Given the description of an element on the screen output the (x, y) to click on. 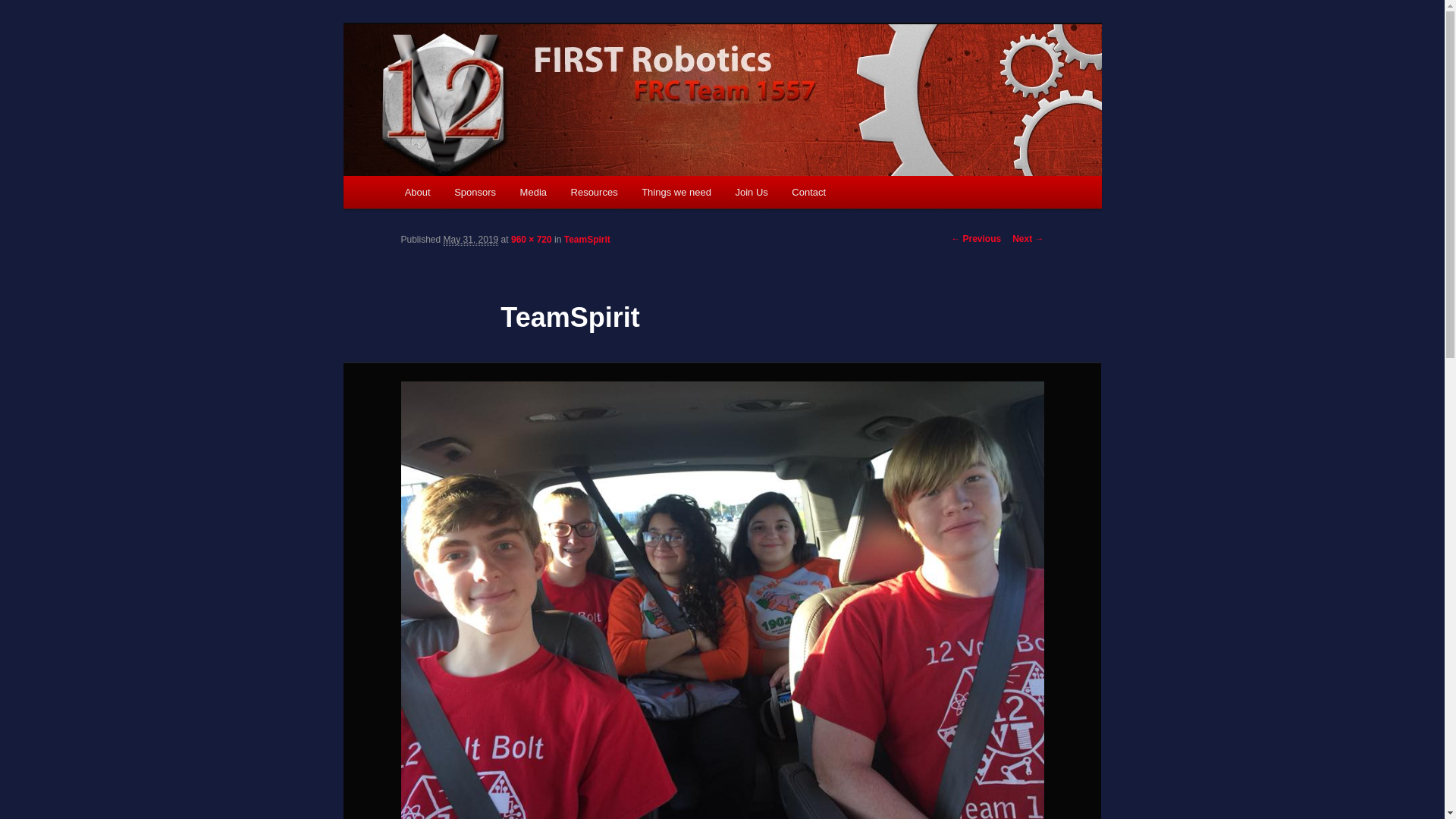
Resources Element type: text (594, 191)
Media Element type: text (533, 191)
Sponsors Element type: text (474, 191)
TeamSpirit Element type: text (587, 239)
Skip to primary content Element type: text (414, 175)
12 Volt Bolt :: FRC Team 1557 Element type: text (559, 78)
Join Us Element type: text (751, 191)
Contact Element type: text (808, 191)
Things we need Element type: text (675, 191)
About Element type: text (417, 191)
